Given the description of an element on the screen output the (x, y) to click on. 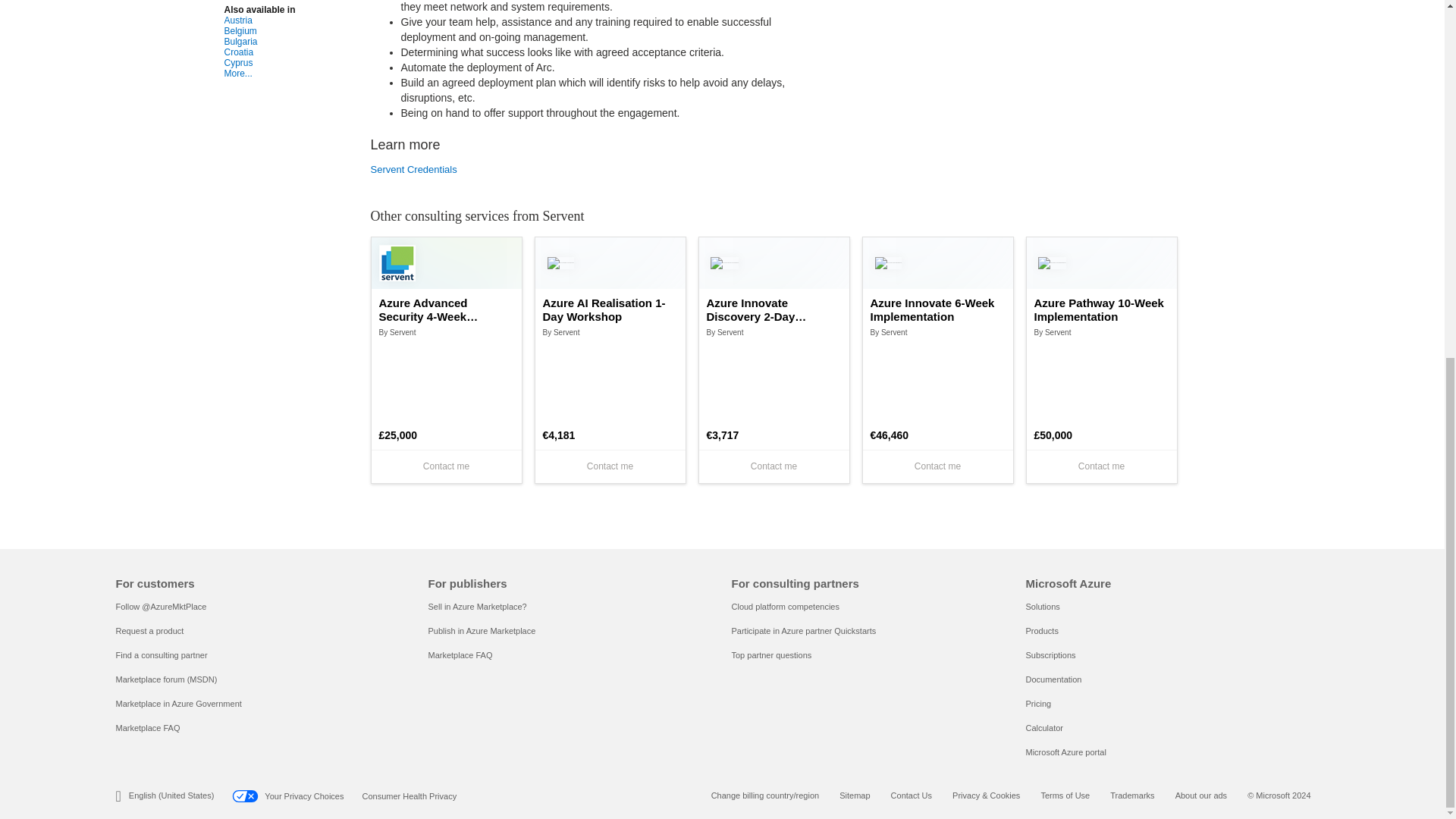
Azure AI Realisation 1-Day Workshop (610, 309)
Azure Innovate Discovery 2-Day Workshop (773, 309)
Azure Innovate 6-Week Implementation (938, 309)
Azure Advanced Security 4-Week Implementation (445, 309)
Azure Pathway 10-Week Implementation (1101, 309)
